Given the description of an element on the screen output the (x, y) to click on. 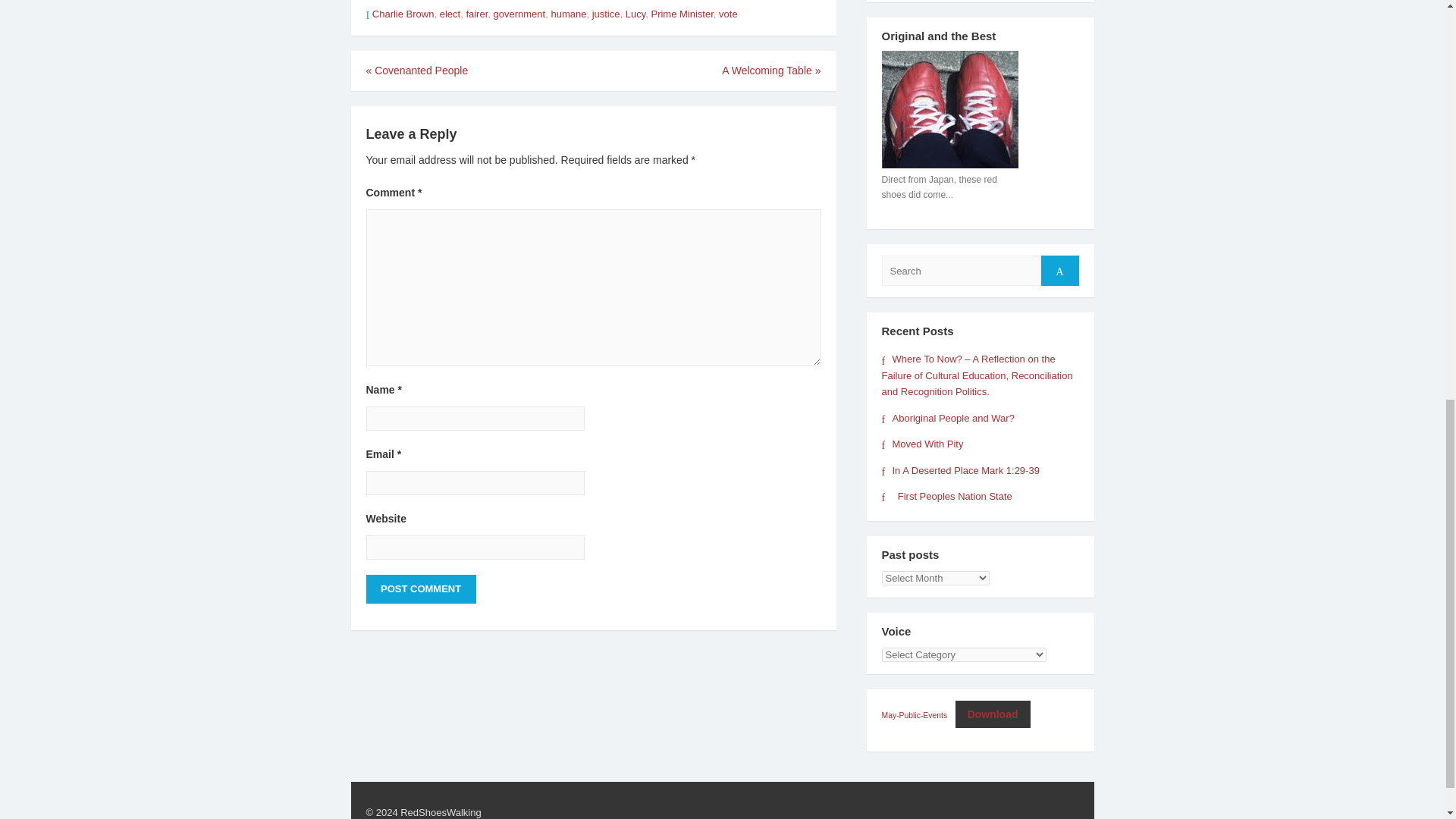
Charlie Brown (402, 13)
vote (728, 13)
  First Peoples Nation State (945, 496)
Post Comment (420, 588)
Moved With Pity (921, 443)
May-Public-Events (913, 715)
Lucy (636, 13)
elect (449, 13)
government (519, 13)
justice (606, 13)
humane (568, 13)
Download (992, 714)
Search (1059, 270)
fairer (476, 13)
Post Comment (420, 588)
